Given the description of an element on the screen output the (x, y) to click on. 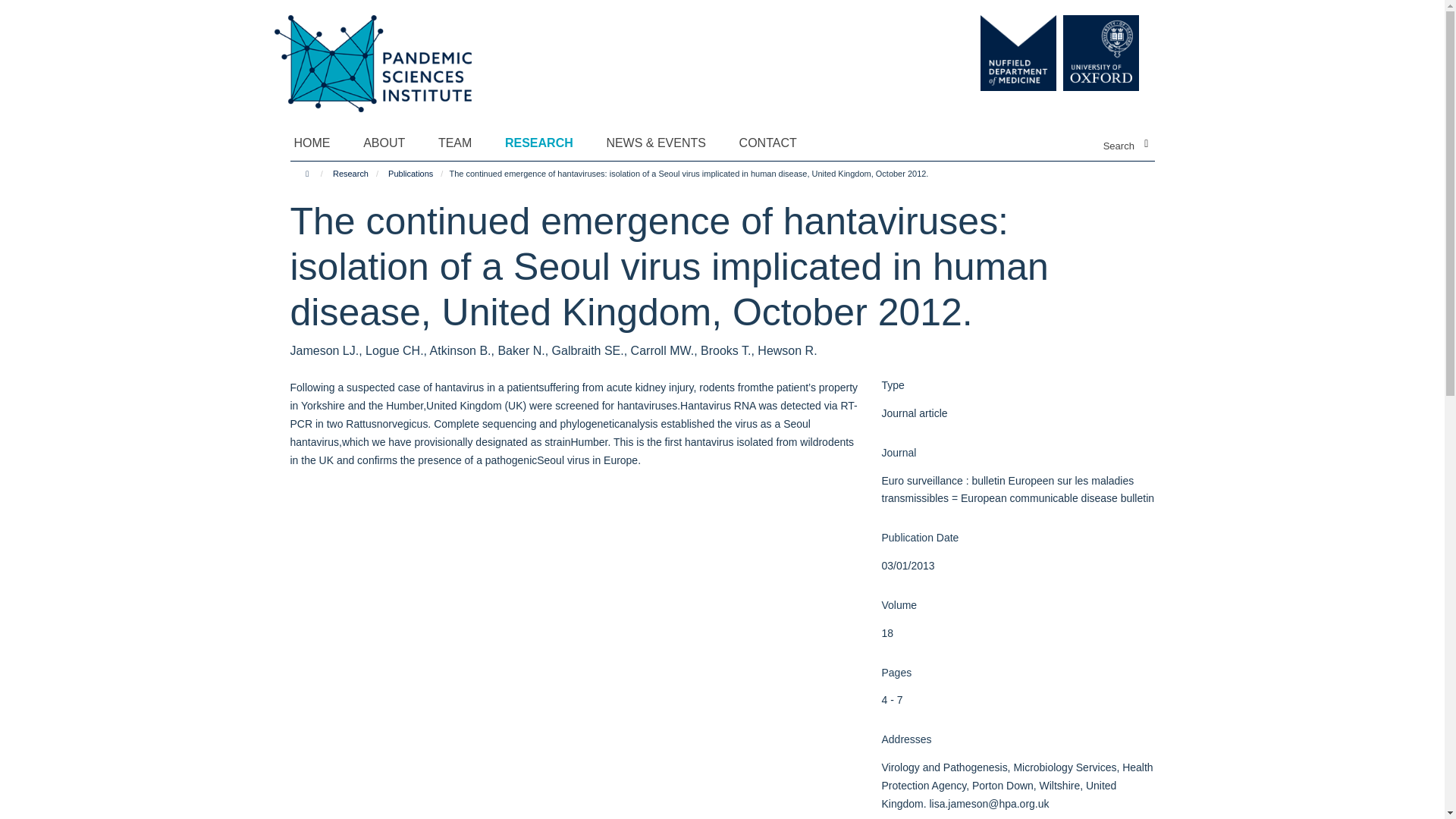
CONTACT (777, 142)
NDM University of Oxford (1074, 52)
ABOUT (392, 142)
Publications (410, 173)
Pandemic Sciences Institute (380, 54)
Research (350, 173)
RESEARCH (548, 142)
HOME (321, 142)
TEAM (464, 142)
